Given the description of an element on the screen output the (x, y) to click on. 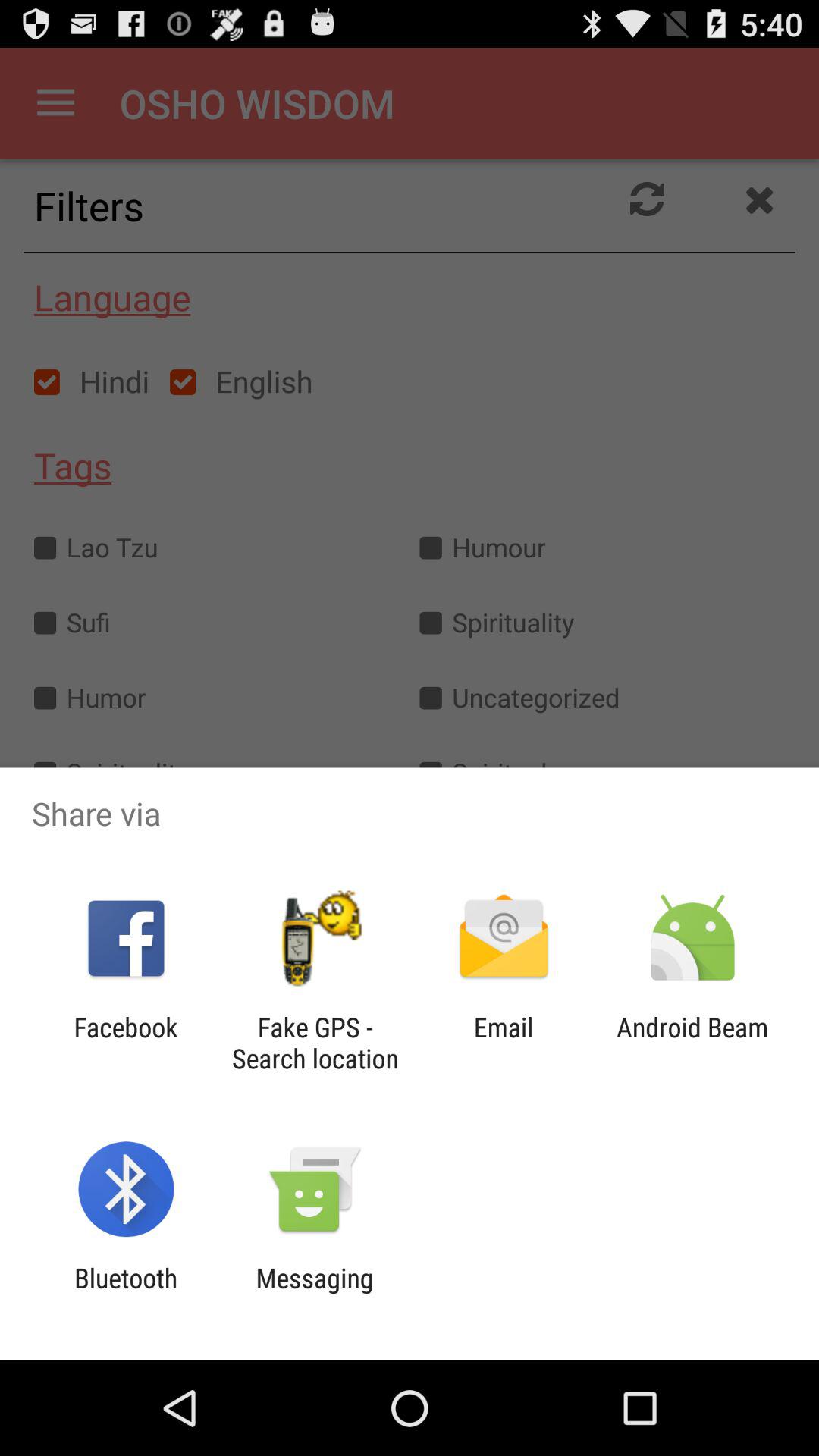
press item to the right of the fake gps search item (503, 1042)
